Given the description of an element on the screen output the (x, y) to click on. 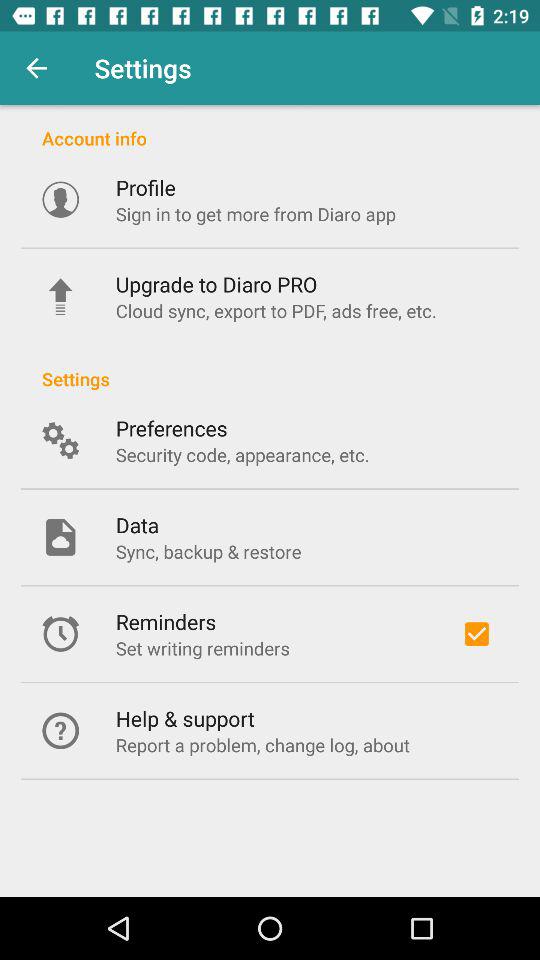
click set writing reminders icon (202, 648)
